Given the description of an element on the screen output the (x, y) to click on. 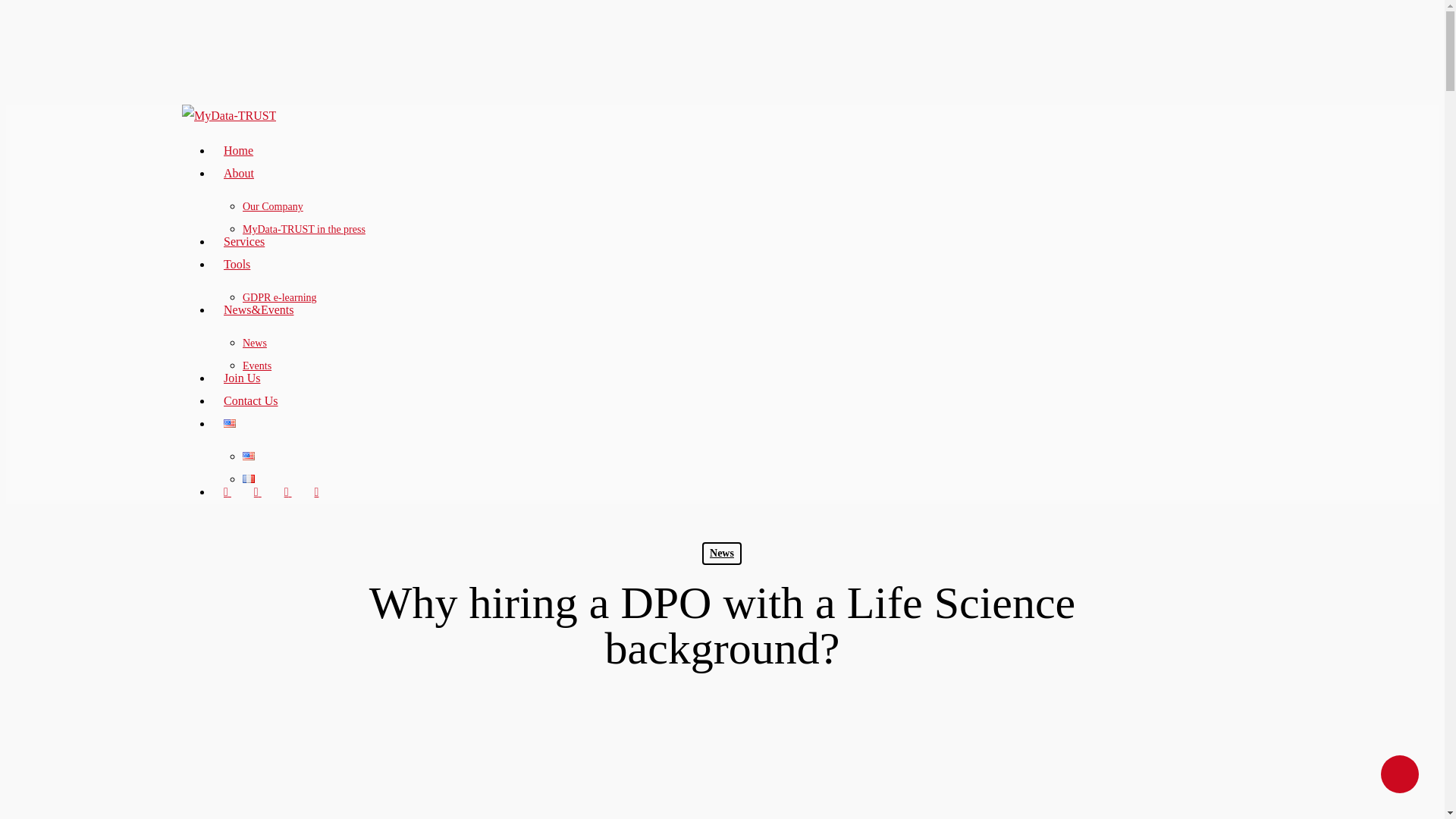
Youtube (316, 491)
Twitter (227, 491)
About (238, 173)
News (254, 342)
Events (256, 365)
Tools (237, 264)
Facebook (258, 491)
Home (238, 150)
MyData-TRUST in the press (304, 229)
Linkedin (287, 491)
Our Company (272, 206)
Join Us (241, 377)
GDPR e-learning (280, 297)
Services (244, 241)
